Given the description of an element on the screen output the (x, y) to click on. 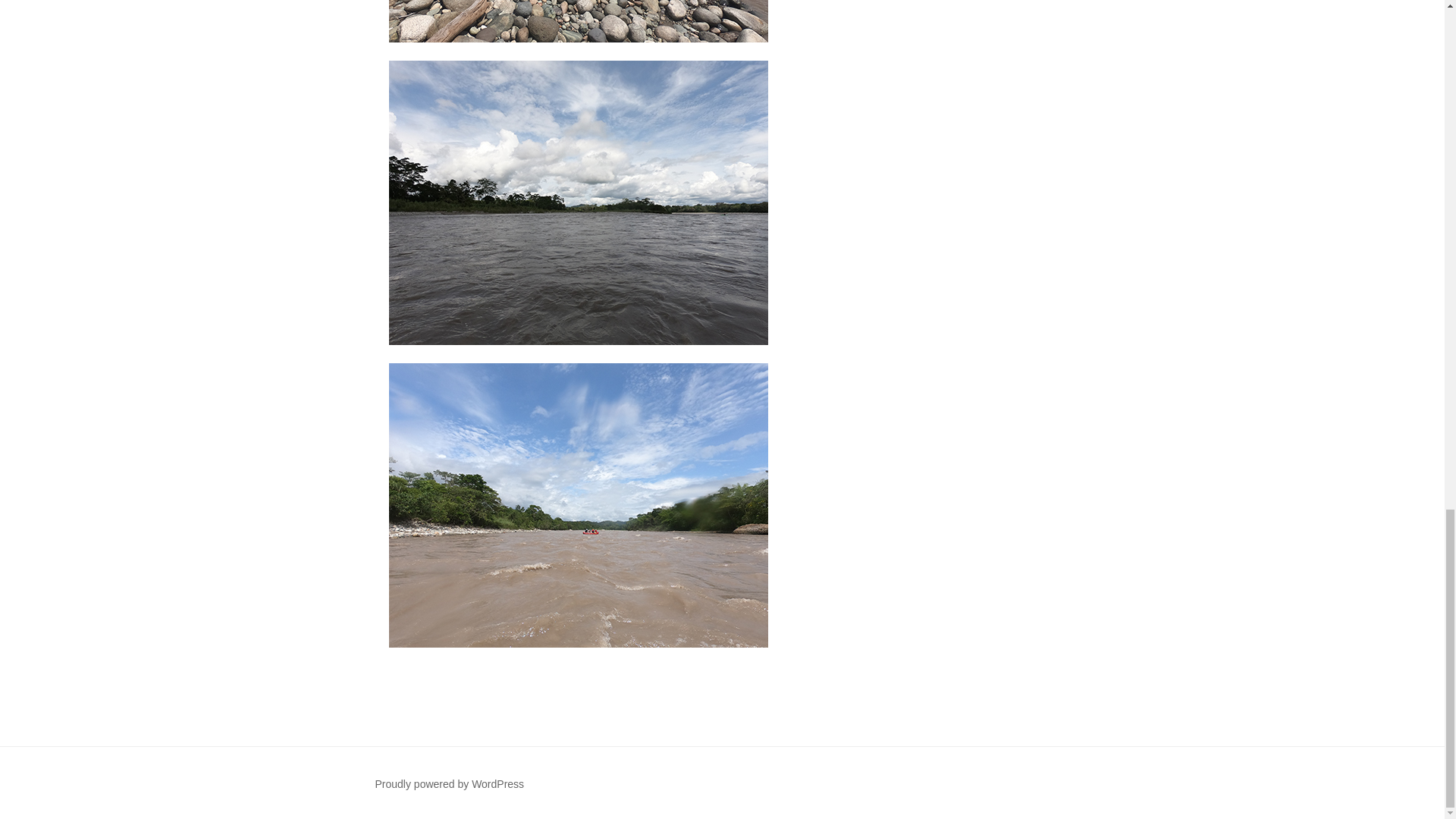
Proudly powered by WordPress (449, 784)
